Given the description of an element on the screen output the (x, y) to click on. 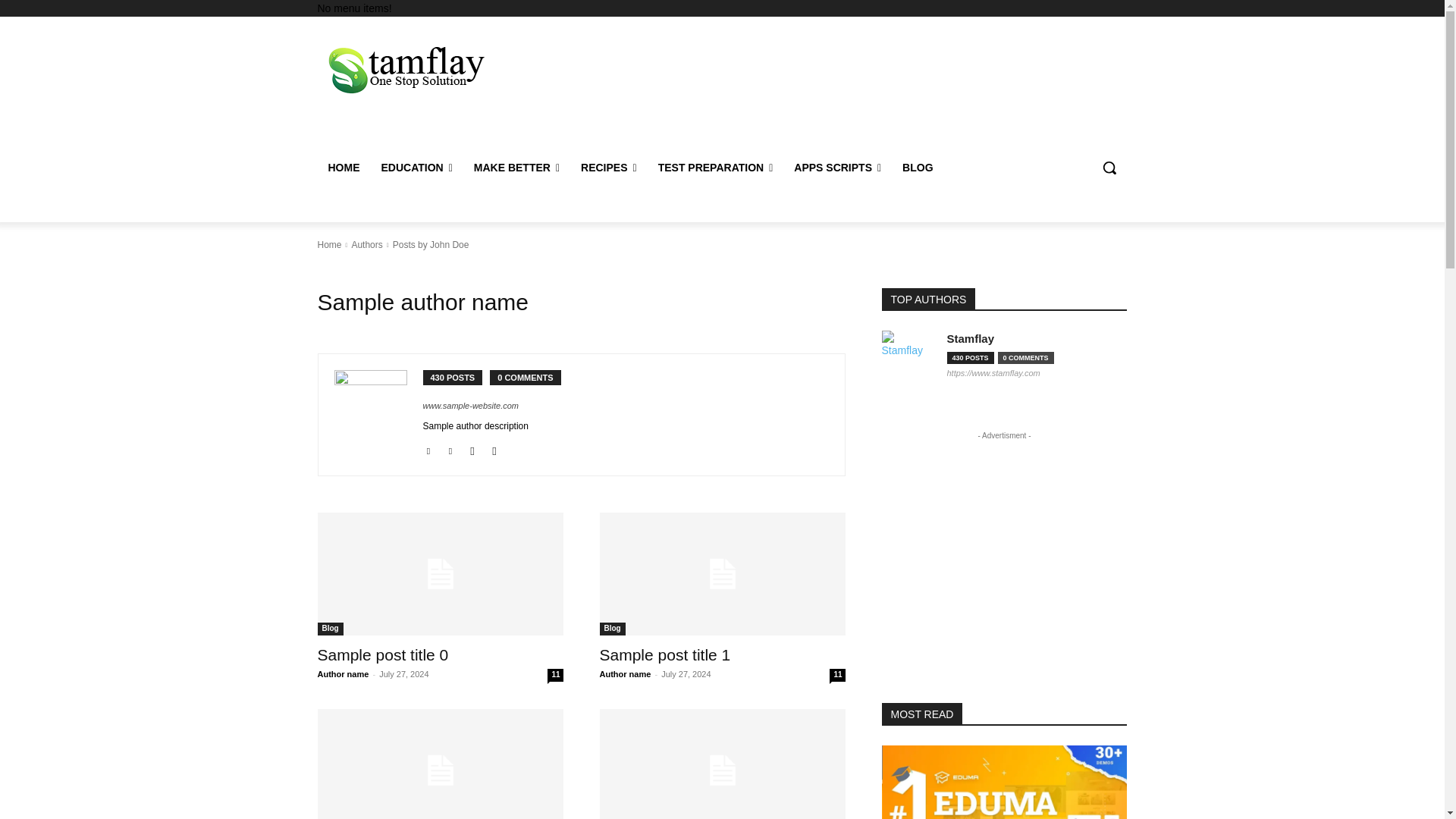
EDUCATION (416, 167)
HOME (343, 167)
Advertisement (846, 88)
